Given the description of an element on the screen output the (x, y) to click on. 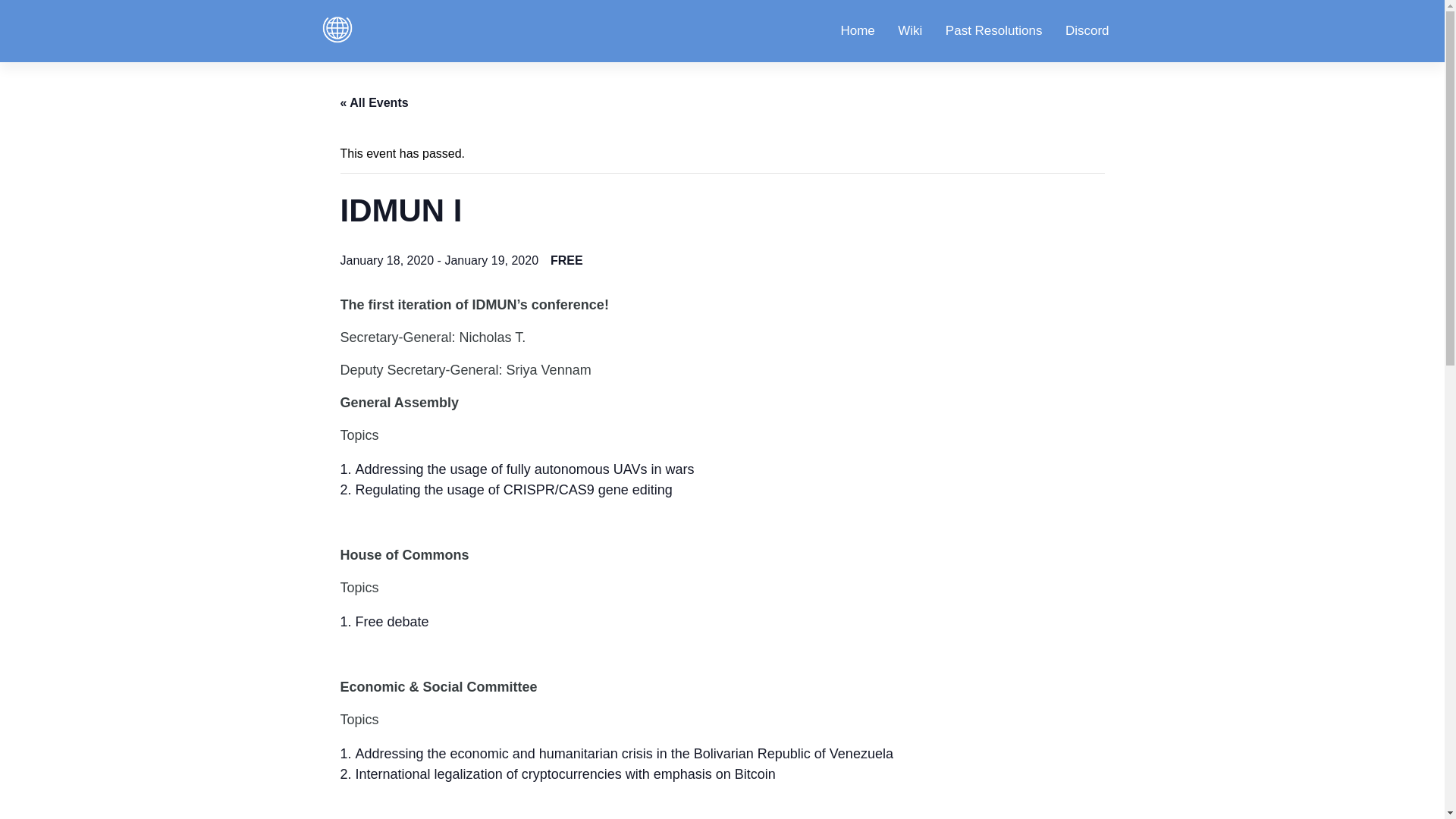
Home (857, 31)
Discord (1086, 31)
Past Resolutions (993, 31)
Home (857, 31)
Discord (1086, 31)
Past Resolutions (993, 31)
